Given the description of an element on the screen output the (x, y) to click on. 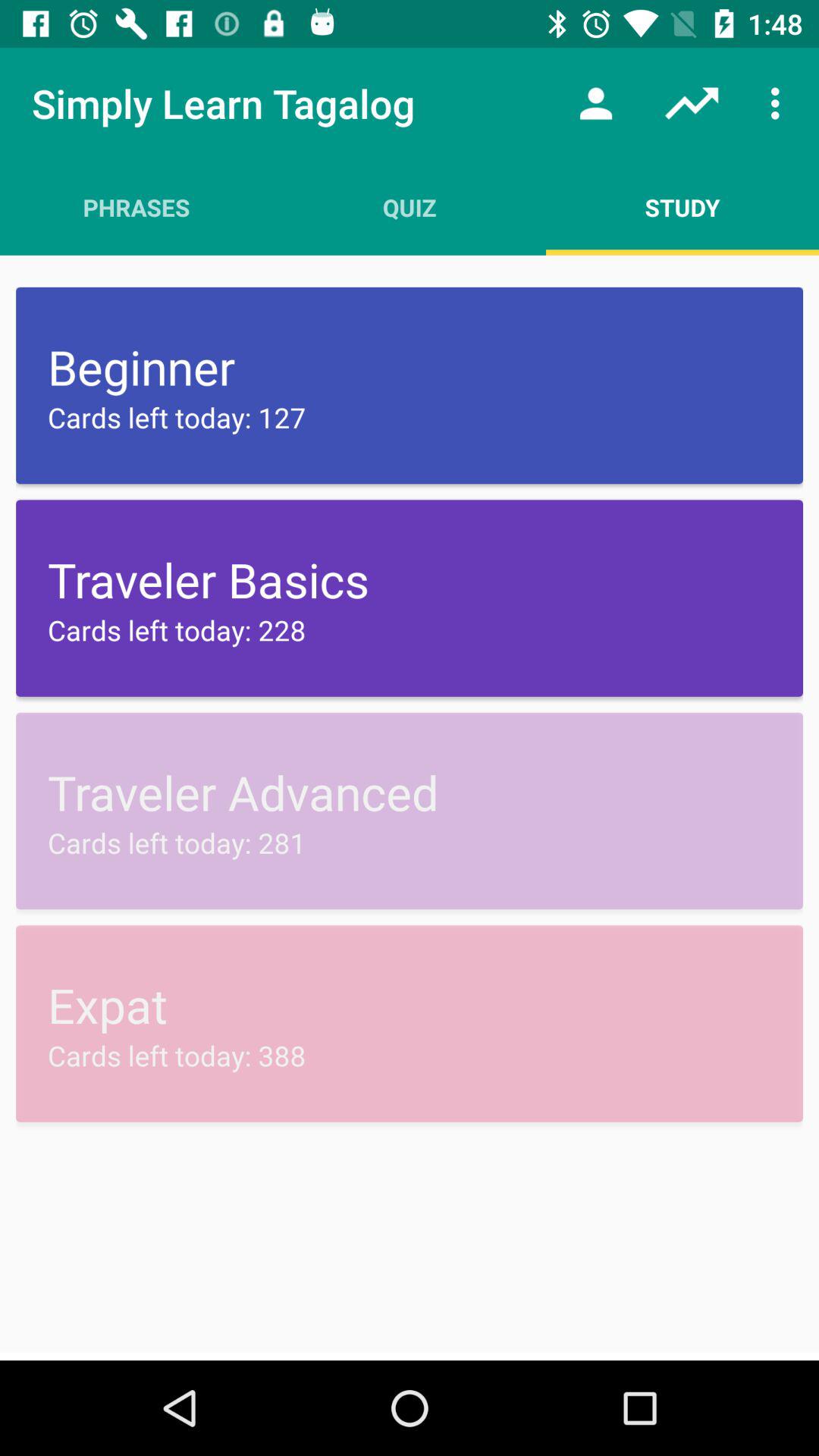
choose icon to the left of study icon (409, 207)
